Given the description of an element on the screen output the (x, y) to click on. 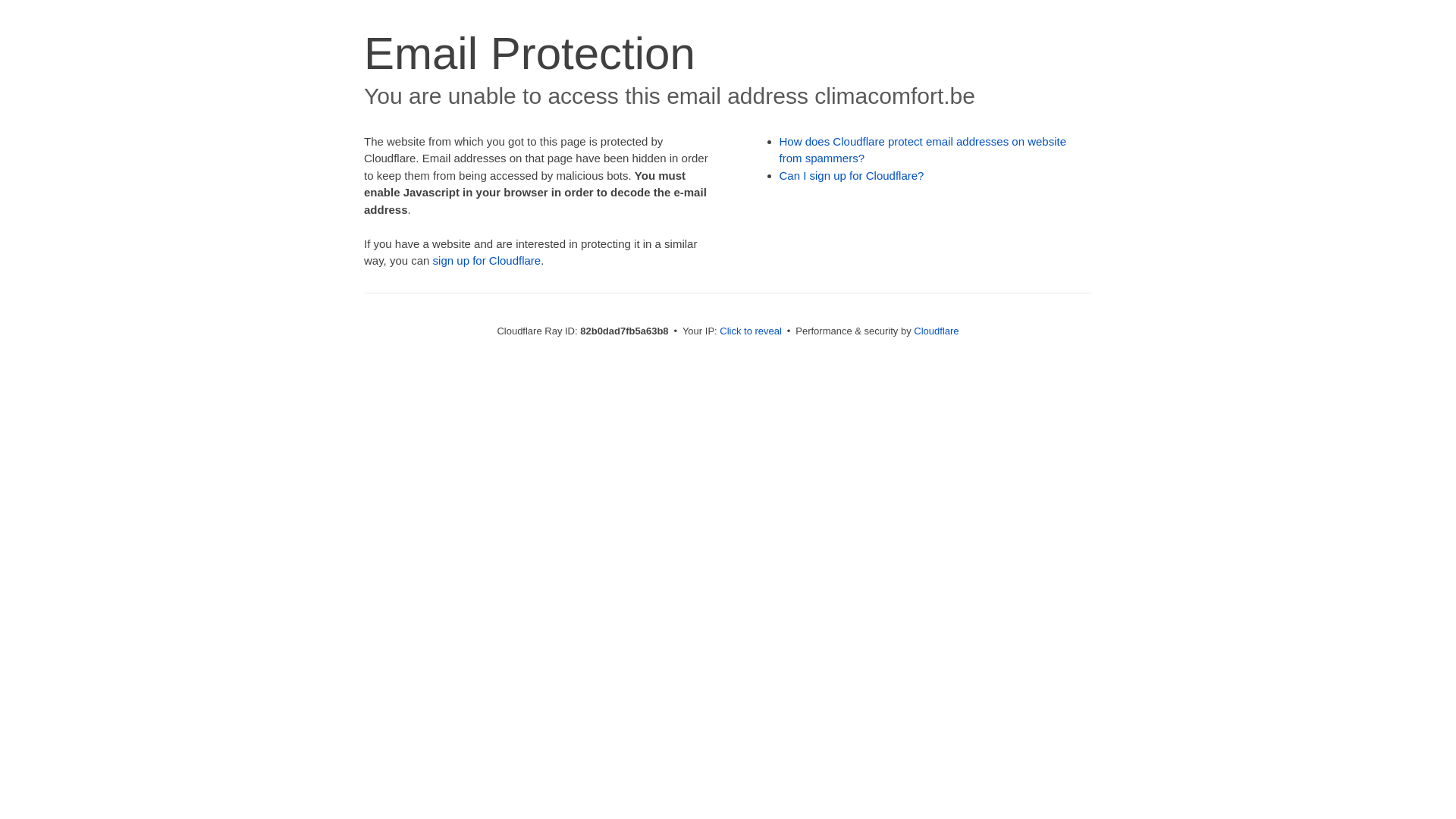
Cloudflare Element type: text (935, 330)
sign up for Cloudflare Element type: text (487, 260)
Can I sign up for Cloudflare? Element type: text (851, 175)
Click to reveal Element type: text (750, 330)
